Given the description of an element on the screen output the (x, y) to click on. 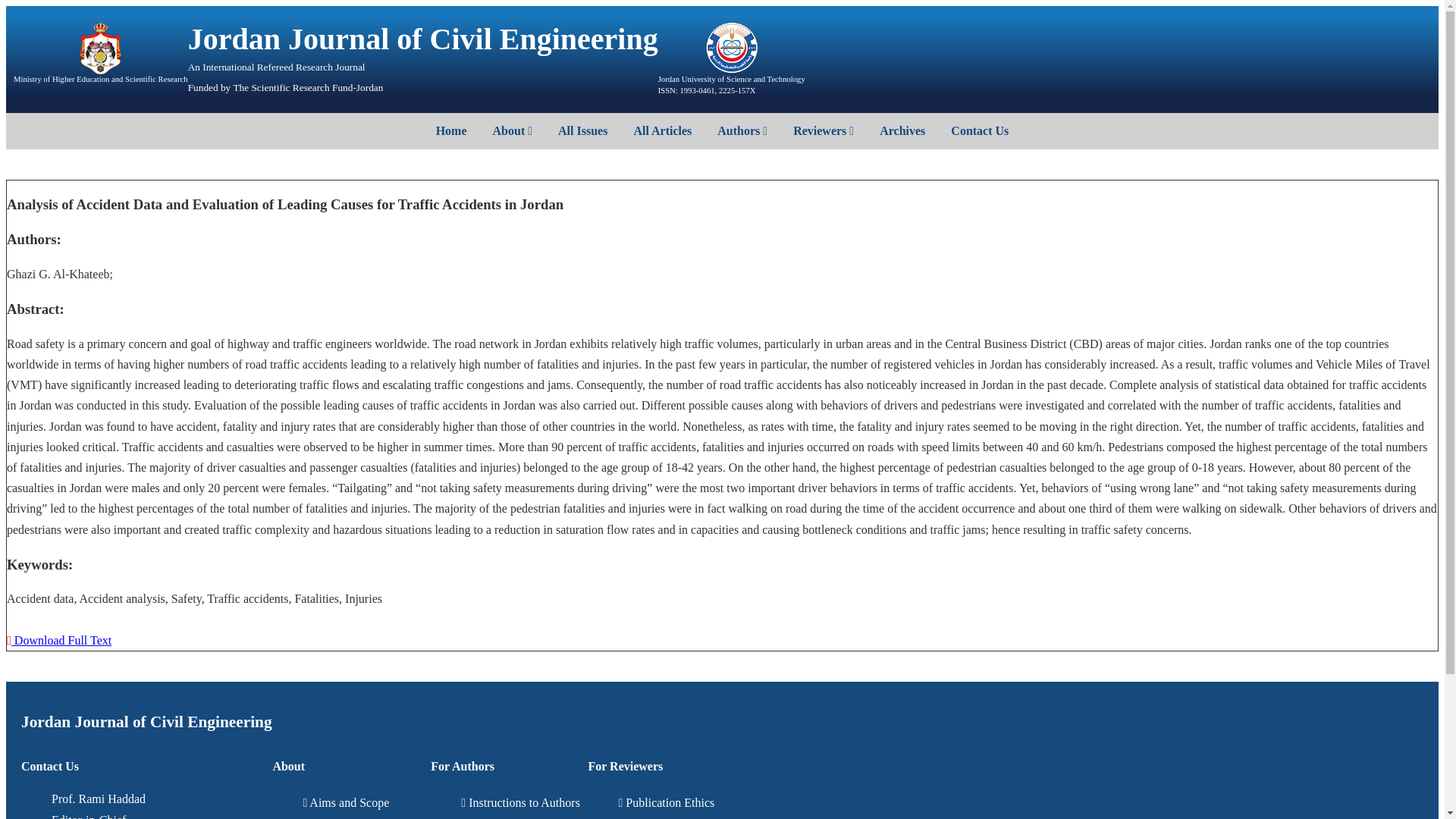
 Instructions to Authors (520, 802)
 Publication Ethics (666, 802)
Home (452, 130)
Reviewers (822, 130)
About (512, 130)
Contact Us (979, 130)
All Articles (662, 130)
 Aims and Scope (345, 802)
All Issues (582, 130)
Archives (901, 130)
Authors (742, 130)
Download Full Text (59, 640)
